Given the description of an element on the screen output the (x, y) to click on. 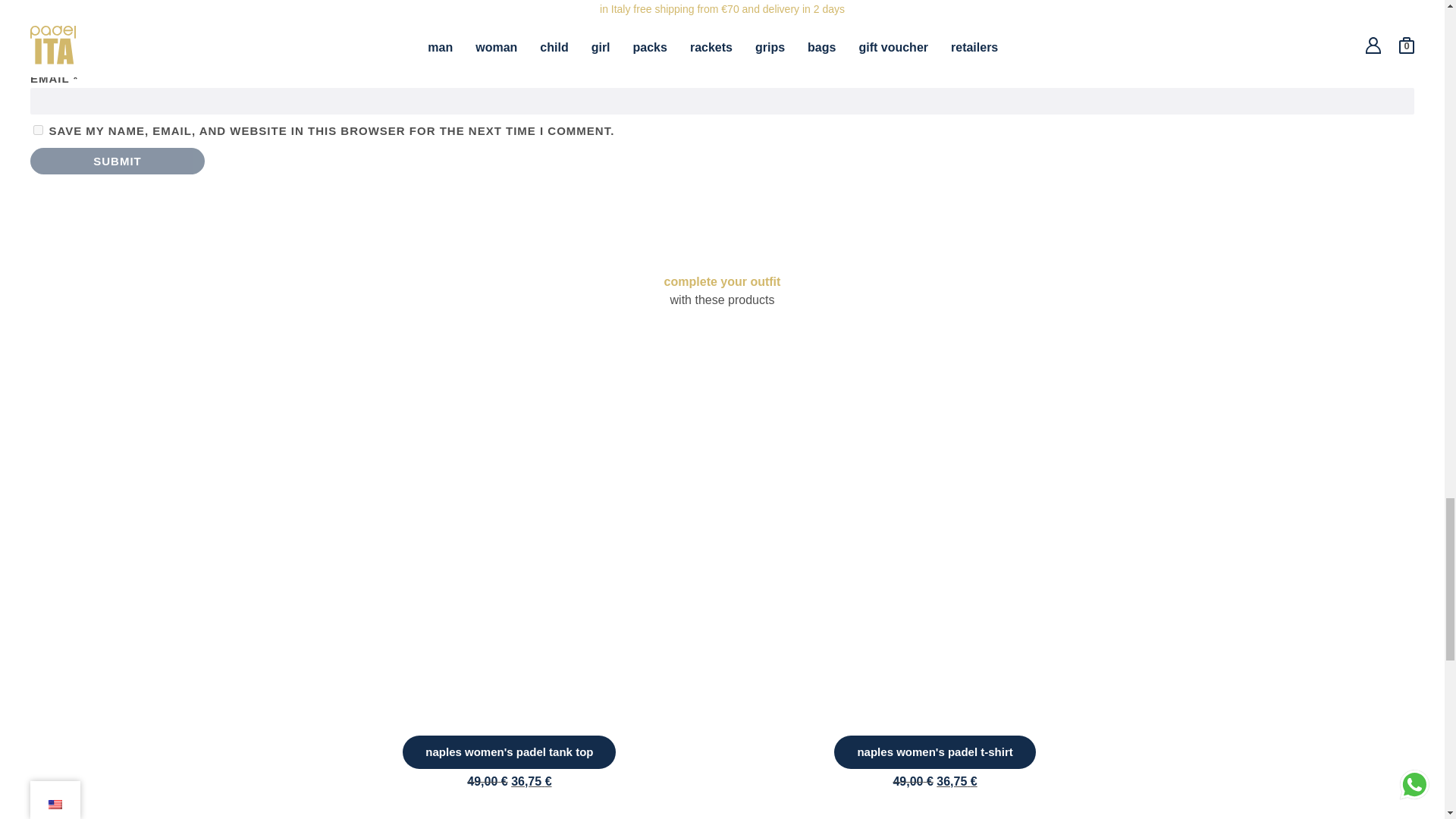
Submit (117, 161)
yes (38, 130)
Submit (117, 161)
